Given the description of an element on the screen output the (x, y) to click on. 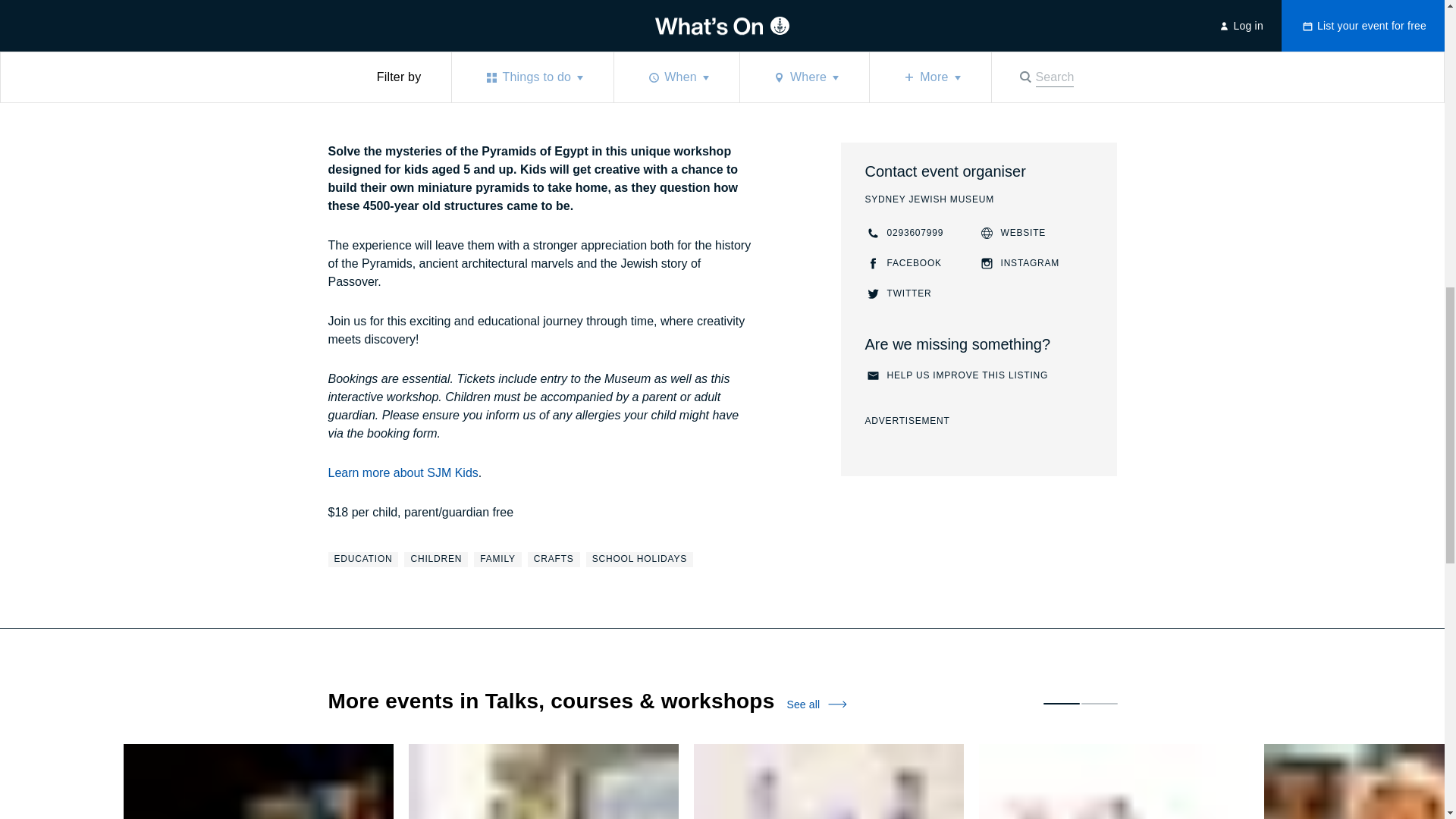
Learn more about SJM Kids (373, 40)
SCHOOL HOLIDAYS (956, 375)
EDUCATION (402, 473)
See all (903, 233)
Book tickets (639, 559)
Grants and sponsorship briefing sessions (975, 19)
FAMILY (897, 294)
CHILDREN (362, 559)
DJ beginner 10 week course (815, 703)
